Given the description of an element on the screen output the (x, y) to click on. 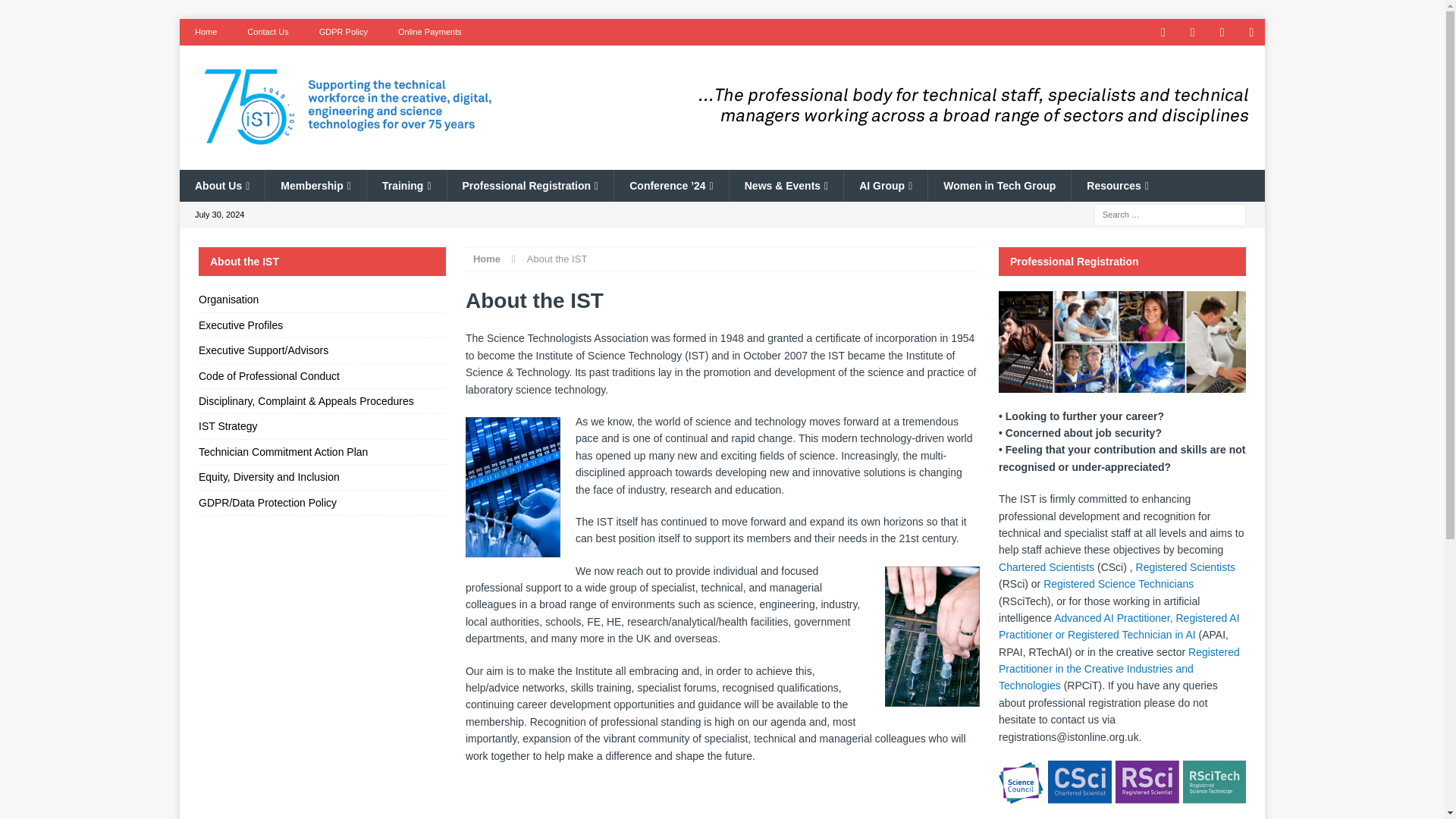
Online Payments (429, 31)
Home (205, 31)
Contact Us (266, 31)
Home (205, 31)
Contact Us (266, 31)
GDPR Policy (343, 31)
